Given the description of an element on the screen output the (x, y) to click on. 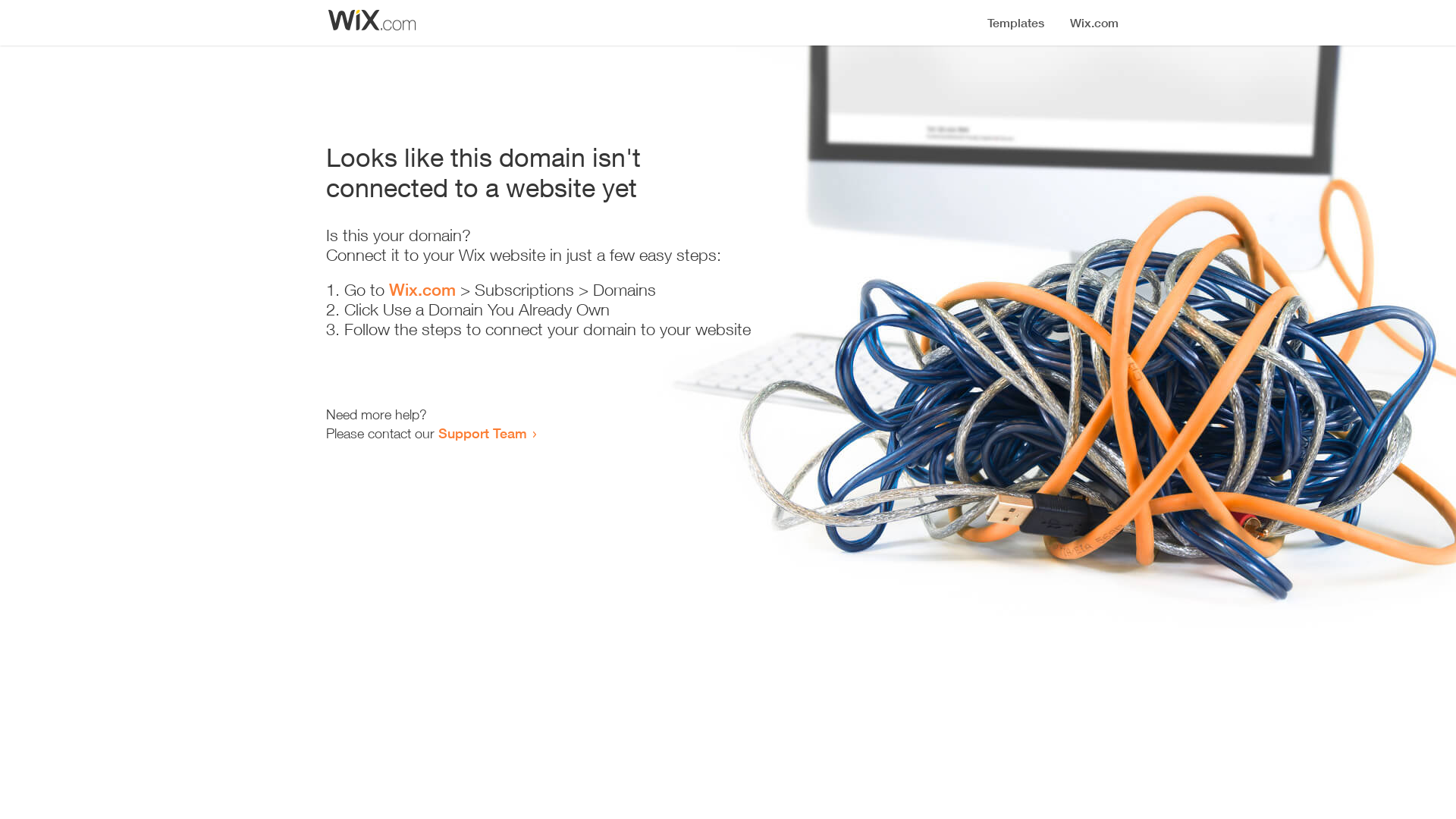
Support Team Element type: text (482, 432)
Wix.com Element type: text (422, 289)
